Given the description of an element on the screen output the (x, y) to click on. 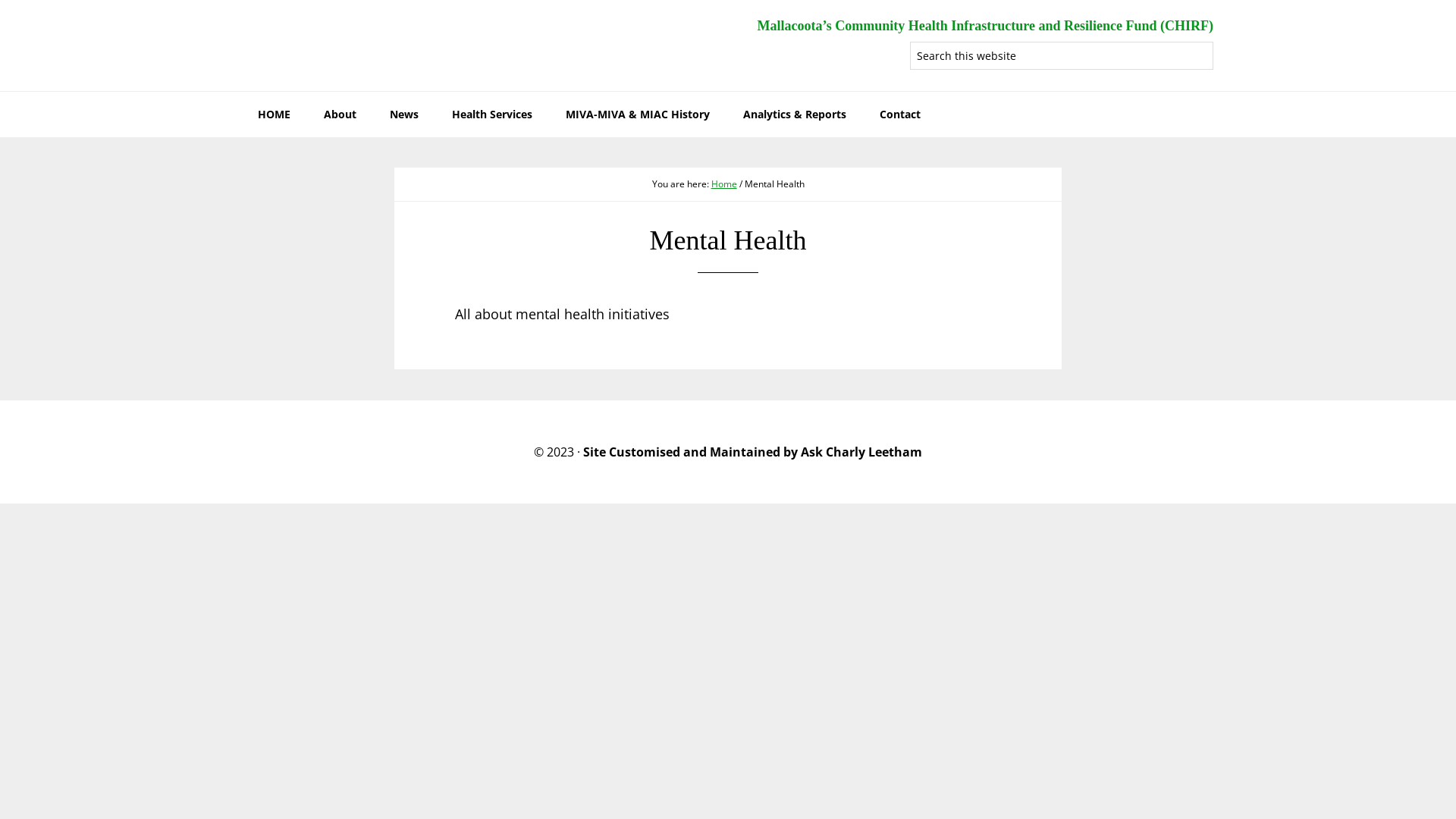
Health Services Element type: text (491, 114)
MIVA-MIVA & MIAC History Element type: text (637, 114)
News Element type: text (403, 114)
Search Element type: text (1212, 40)
Site Customised and Maintained by Ask Charly Leetham Element type: text (752, 451)
Analytics & Reports Element type: text (794, 114)
HOME Element type: text (273, 114)
Contact Element type: text (899, 114)
Home Element type: text (724, 183)
Welcome to CHIRF Element type: text (356, 45)
About Element type: text (339, 114)
Skip to primary navigation Element type: text (0, 0)
